Given the description of an element on the screen output the (x, y) to click on. 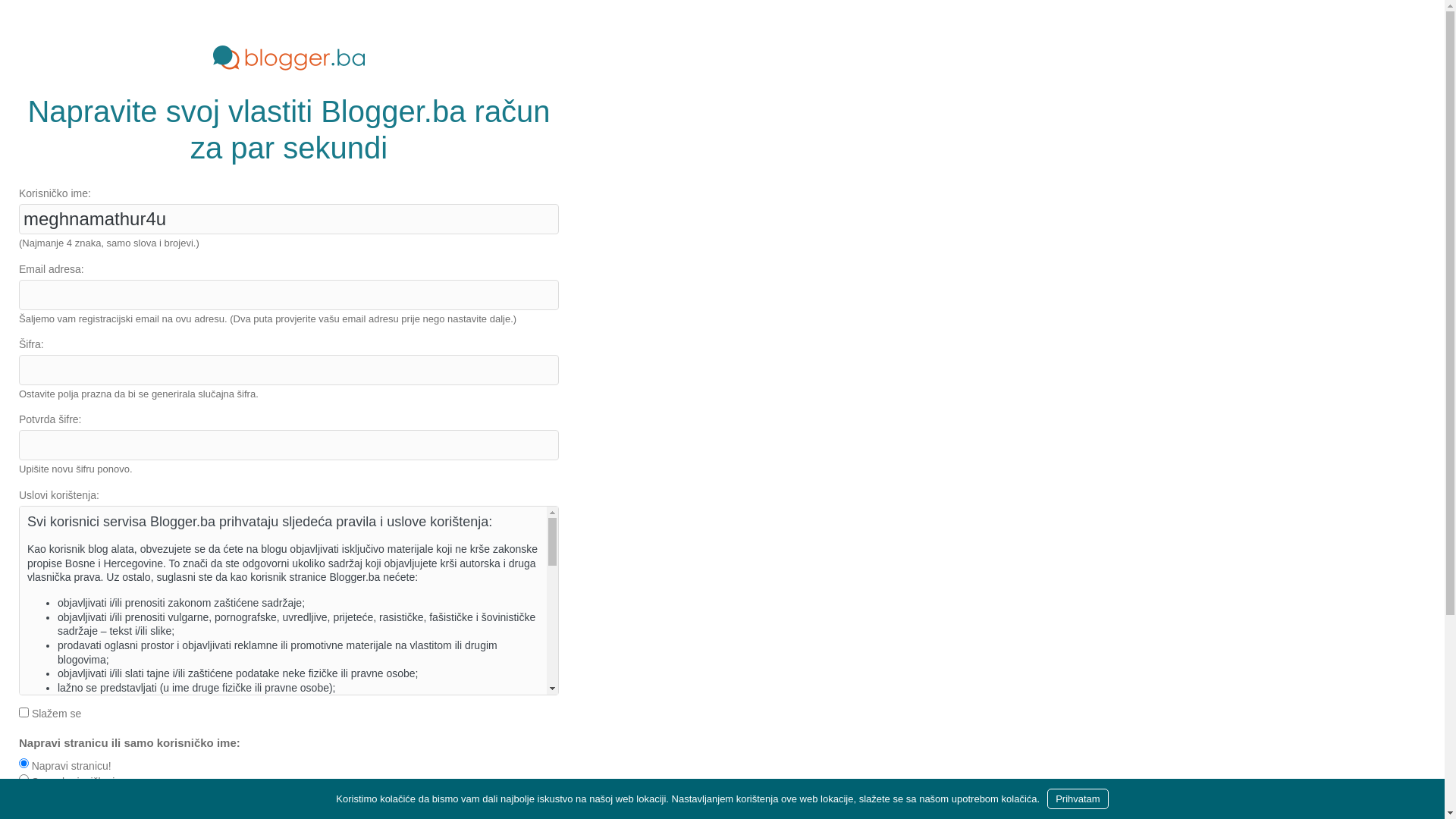
Prihvatam Element type: text (1077, 798)
